Given the description of an element on the screen output the (x, y) to click on. 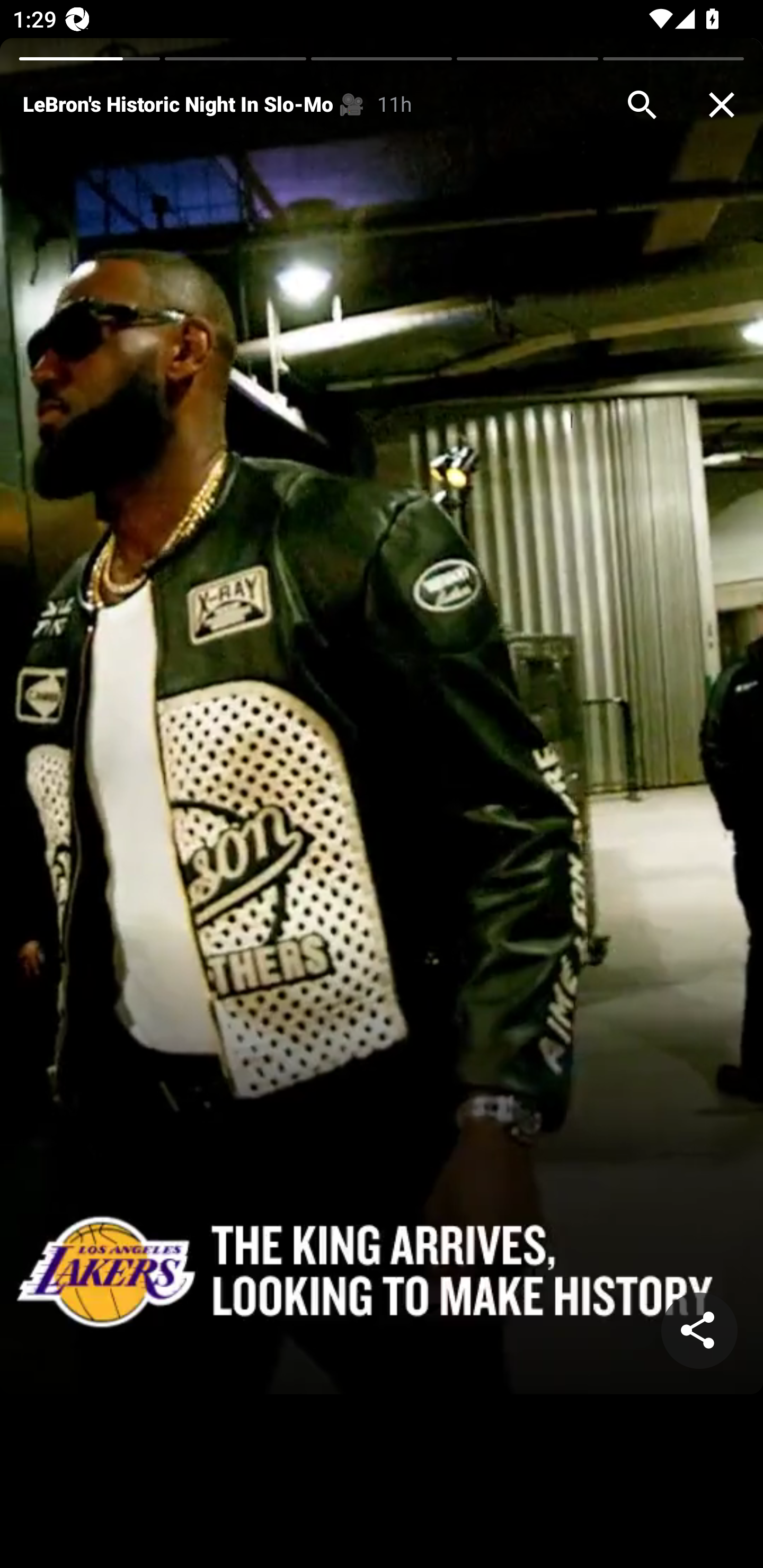
search (642, 104)
close (721, 104)
share (699, 1330)
